Given the description of an element on the screen output the (x, y) to click on. 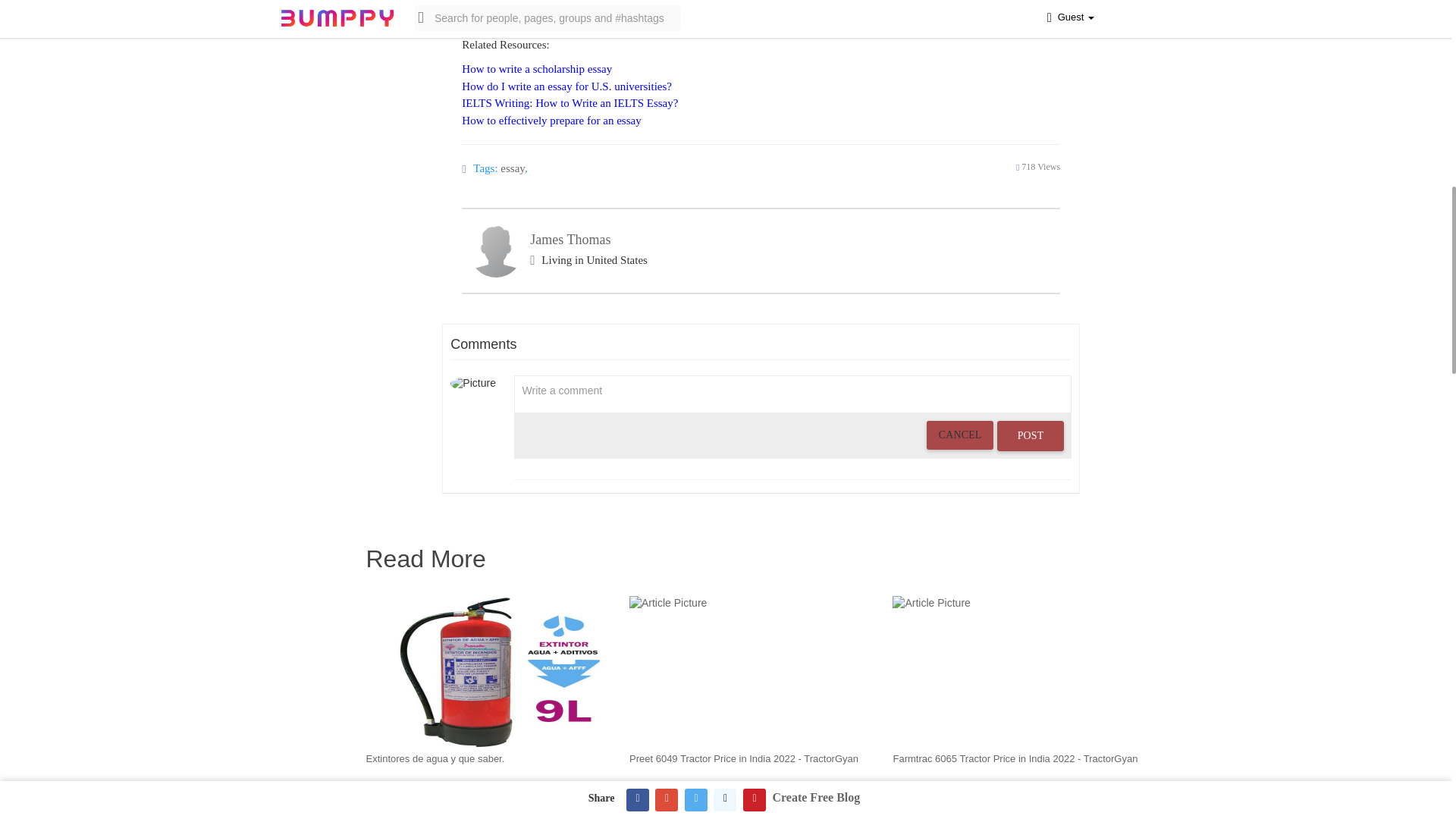
How to write a scholarship essay (536, 69)
POST (1030, 435)
How to effectively prepare for an essay (550, 120)
Extintores de agua y que saber. (434, 758)
Farmtrac 6065 Tractor Price in India 2022 - TractorGyan (1014, 758)
essay (512, 168)
Preet 6049 Tractor Price in India 2022 - TractorGyan (743, 758)
James Thomas (569, 239)
CANCEL (959, 434)
How do I write an essay for U.S. universities? (566, 86)
